Given the description of an element on the screen output the (x, y) to click on. 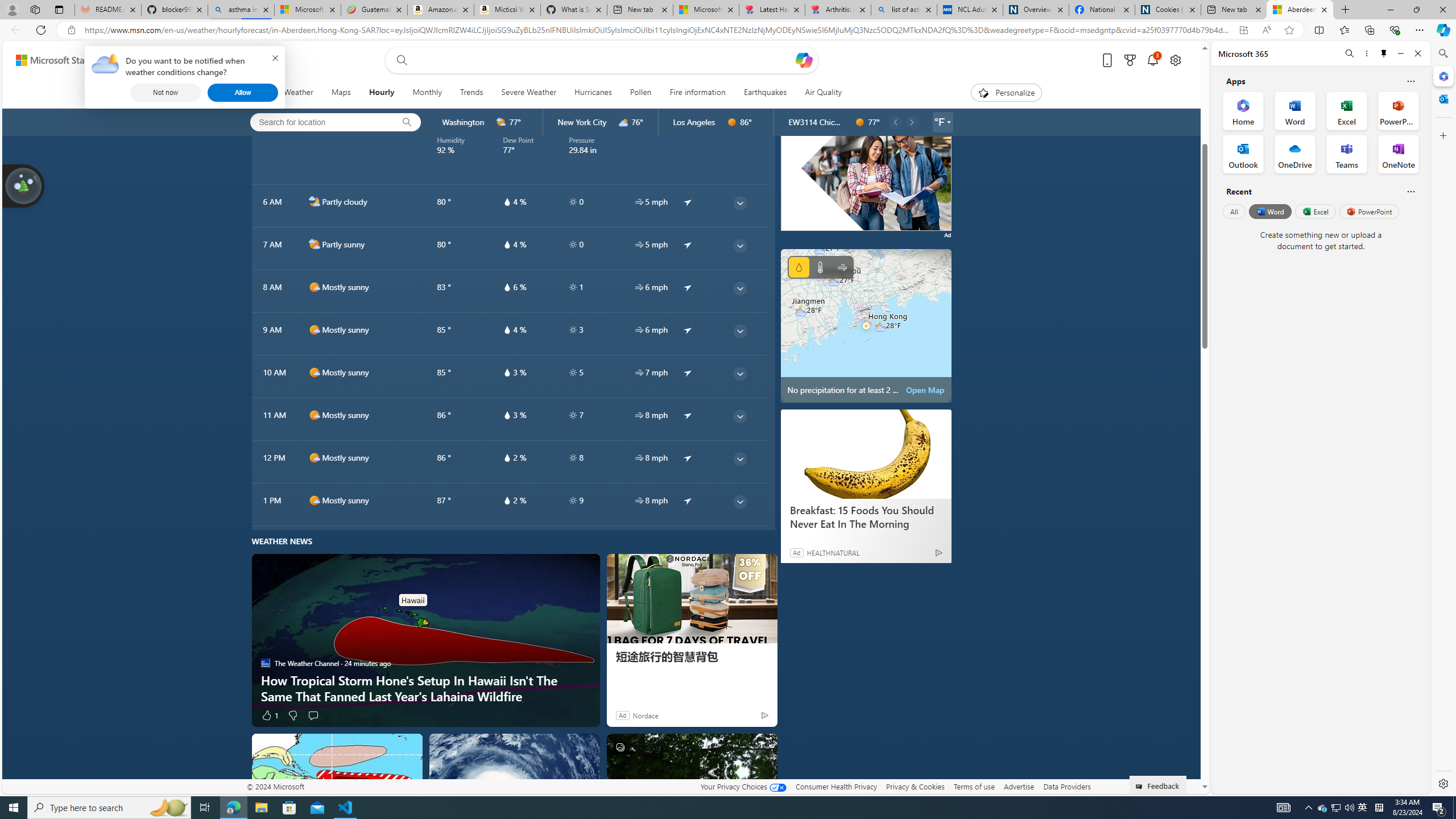
common/carouselChevron (912, 121)
OneNote Office App (1398, 154)
